Given the description of an element on the screen output the (x, y) to click on. 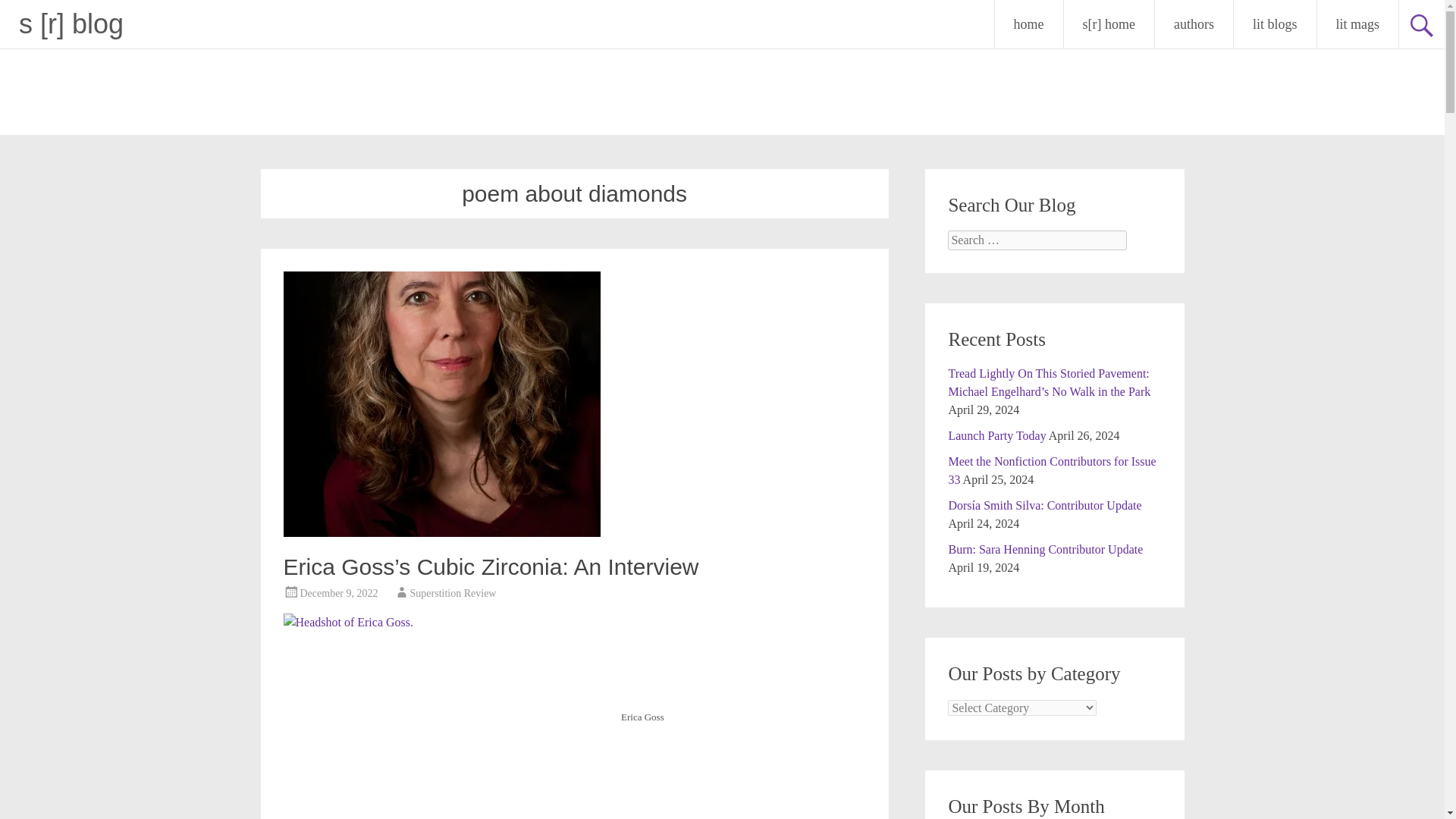
lit mags (1356, 24)
home (1028, 24)
authors (1193, 24)
Meet the Nonfiction Contributors for Issue 33 (1051, 470)
Superstition Review (453, 593)
lit blogs (1274, 24)
Search (26, 12)
Launch Party Today (996, 435)
Burn: Sara Henning Contributor Update (1044, 549)
December 9, 2022 (338, 593)
